Given the description of an element on the screen output the (x, y) to click on. 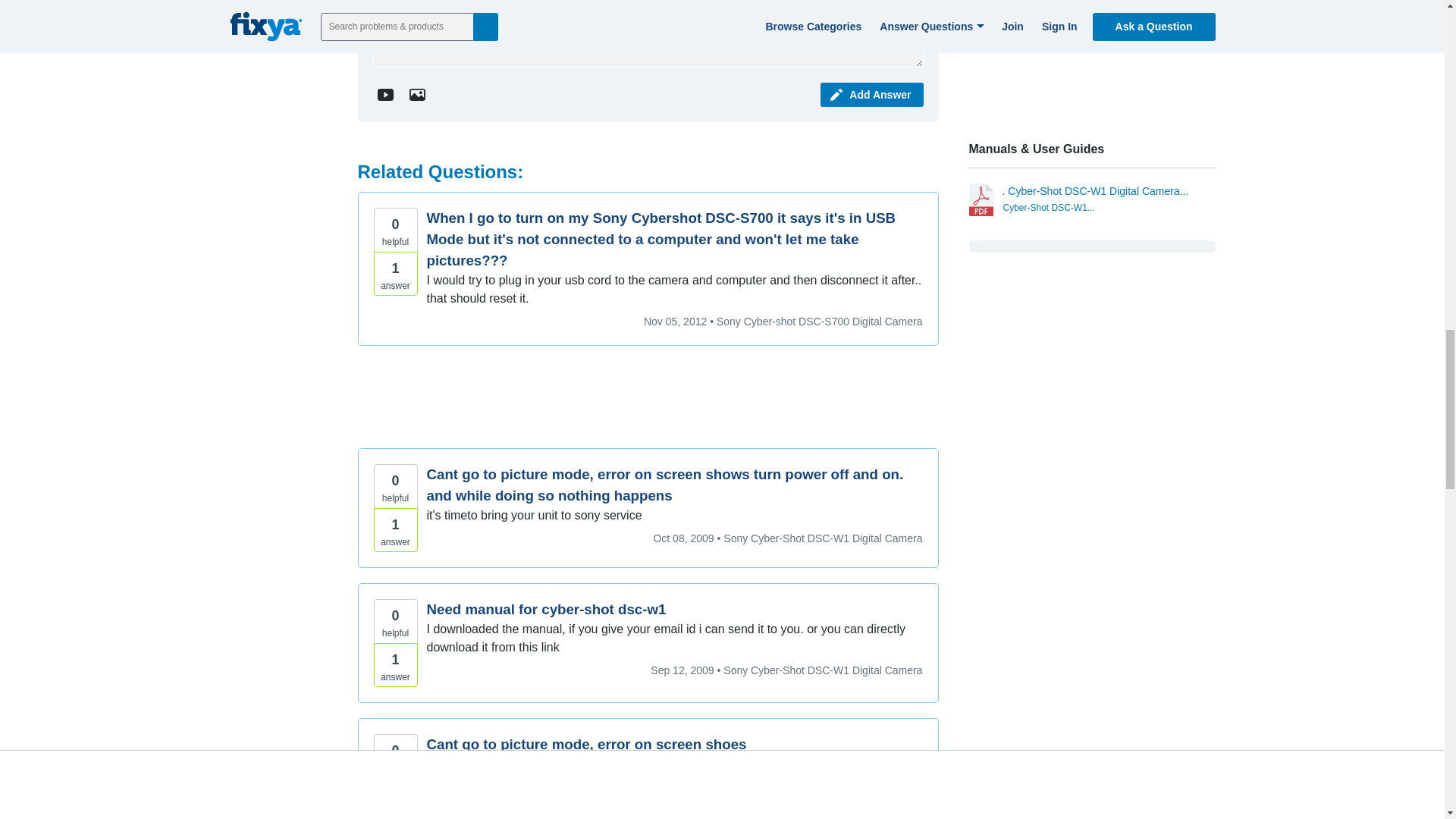
Add Answer (872, 94)
